Given the description of an element on the screen output the (x, y) to click on. 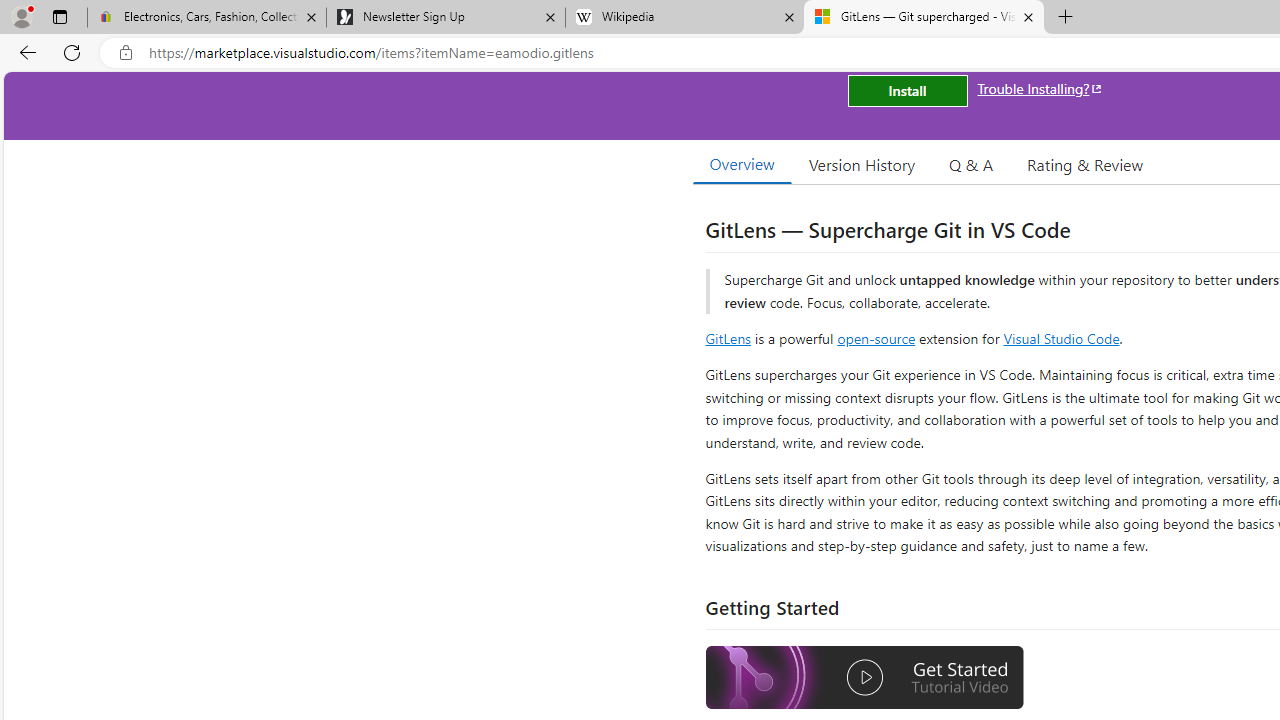
GitLens (728, 337)
Watch the GitLens Getting Started video (865, 678)
Rating & Review (1084, 164)
open-source (876, 337)
Overview (742, 164)
Watch the GitLens Getting Started video (865, 679)
Visual Studio Code (1061, 337)
Q & A (971, 164)
Newsletter Sign Up (445, 17)
Install (907, 90)
